Given the description of an element on the screen output the (x, y) to click on. 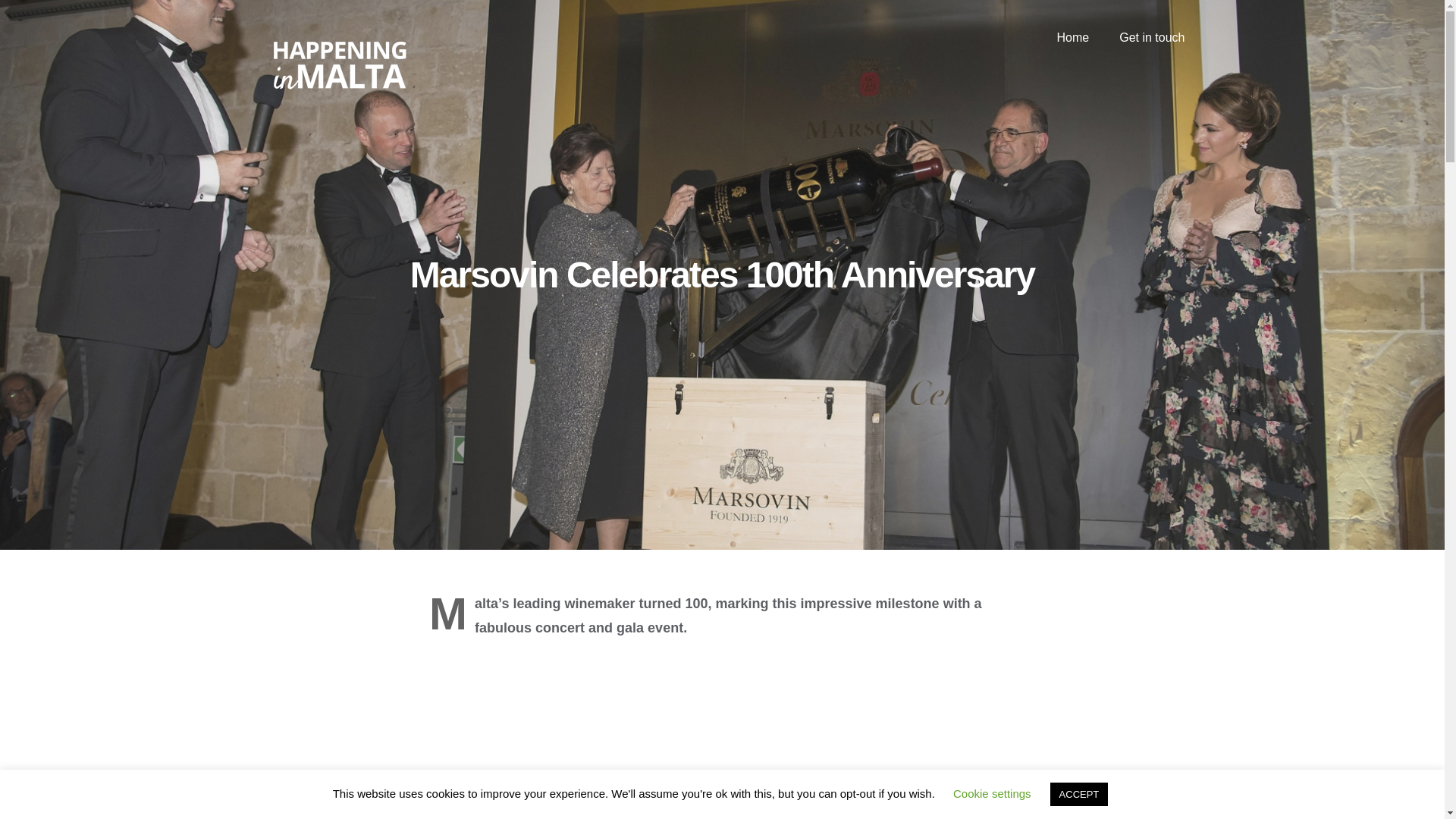
YouTube video player (722, 737)
ACCEPT (1078, 793)
Cookie settings (991, 793)
Get in touch (1151, 38)
